Given the description of an element on the screen output the (x, y) to click on. 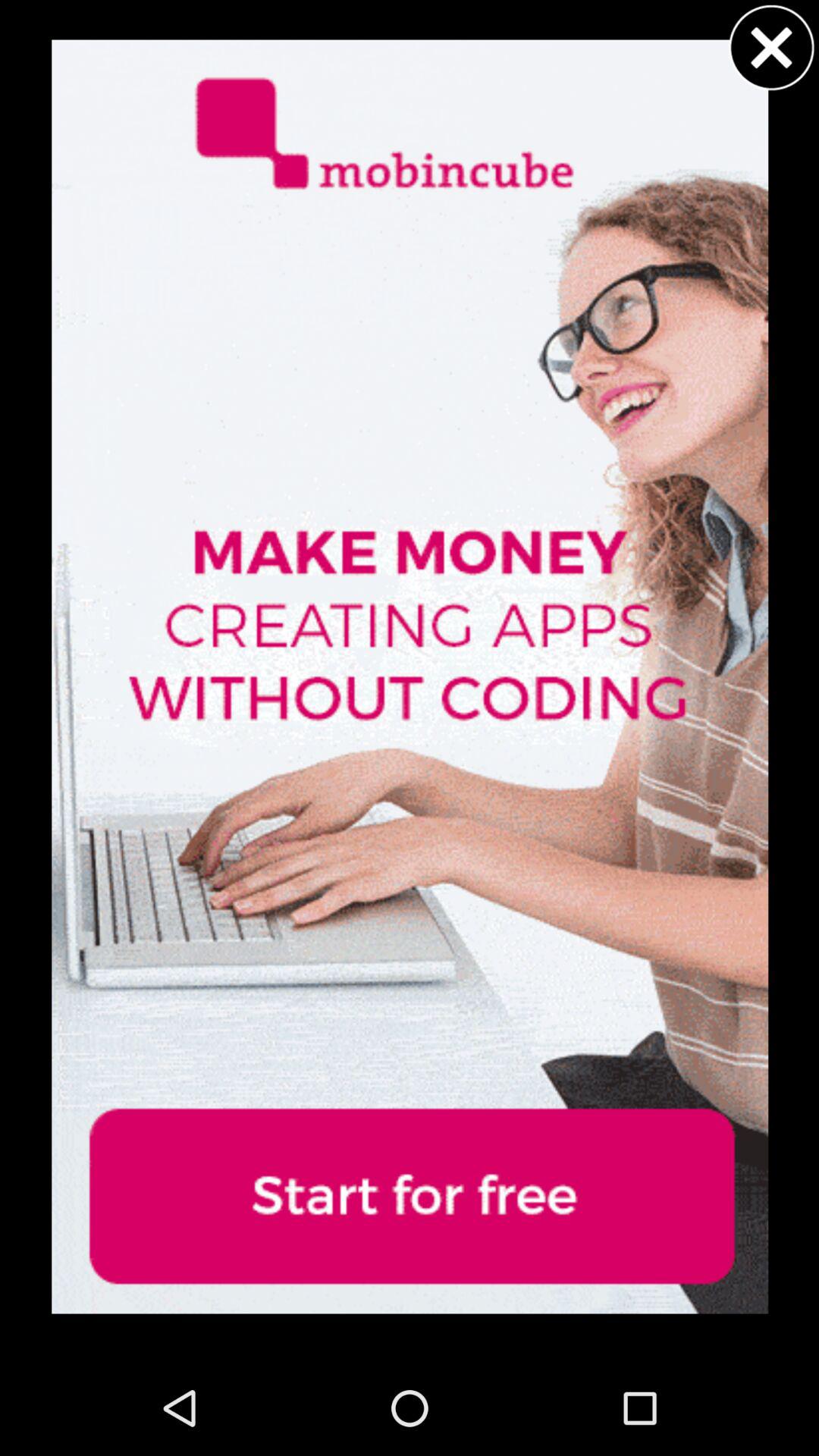
cancel option (771, 47)
